Given the description of an element on the screen output the (x, y) to click on. 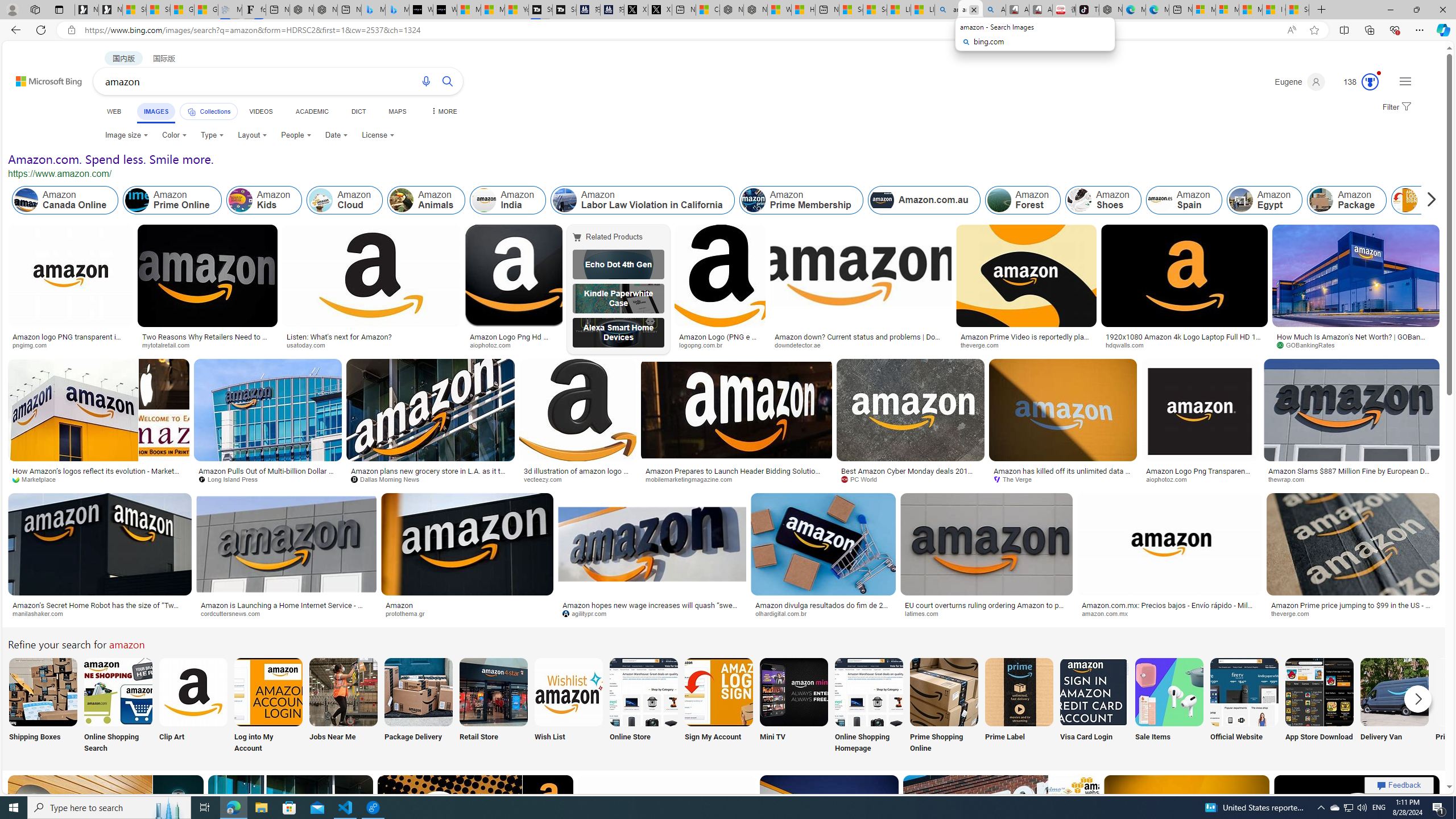
The Verge (1062, 479)
thewrap.com (1351, 479)
Amazon (466, 605)
Marketplace (38, 479)
Amazon Animals (426, 199)
Search using voice (426, 80)
latimes.com (925, 612)
theverge.com (1353, 613)
